Given the description of an element on the screen output the (x, y) to click on. 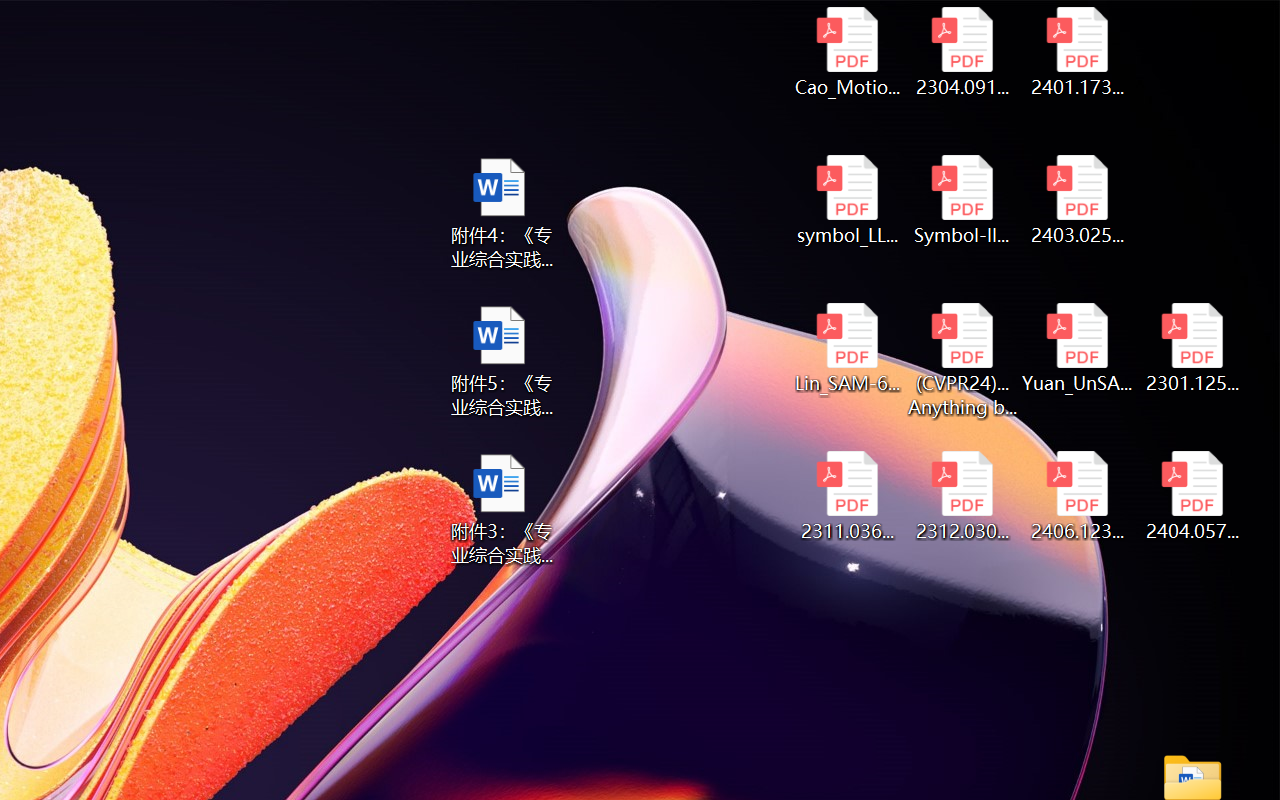
2301.12597v3.pdf (1192, 348)
2401.17399v1.pdf (1077, 52)
Symbol-llm-v2.pdf (962, 200)
2311.03658v2.pdf (846, 496)
(CVPR24)Matching Anything by Segmenting Anything.pdf (962, 360)
2404.05719v1.pdf (1192, 496)
2304.09121v3.pdf (962, 52)
2403.02502v1.pdf (1077, 200)
2406.12373v2.pdf (1077, 496)
symbol_LLM.pdf (846, 200)
